Given the description of an element on the screen output the (x, y) to click on. 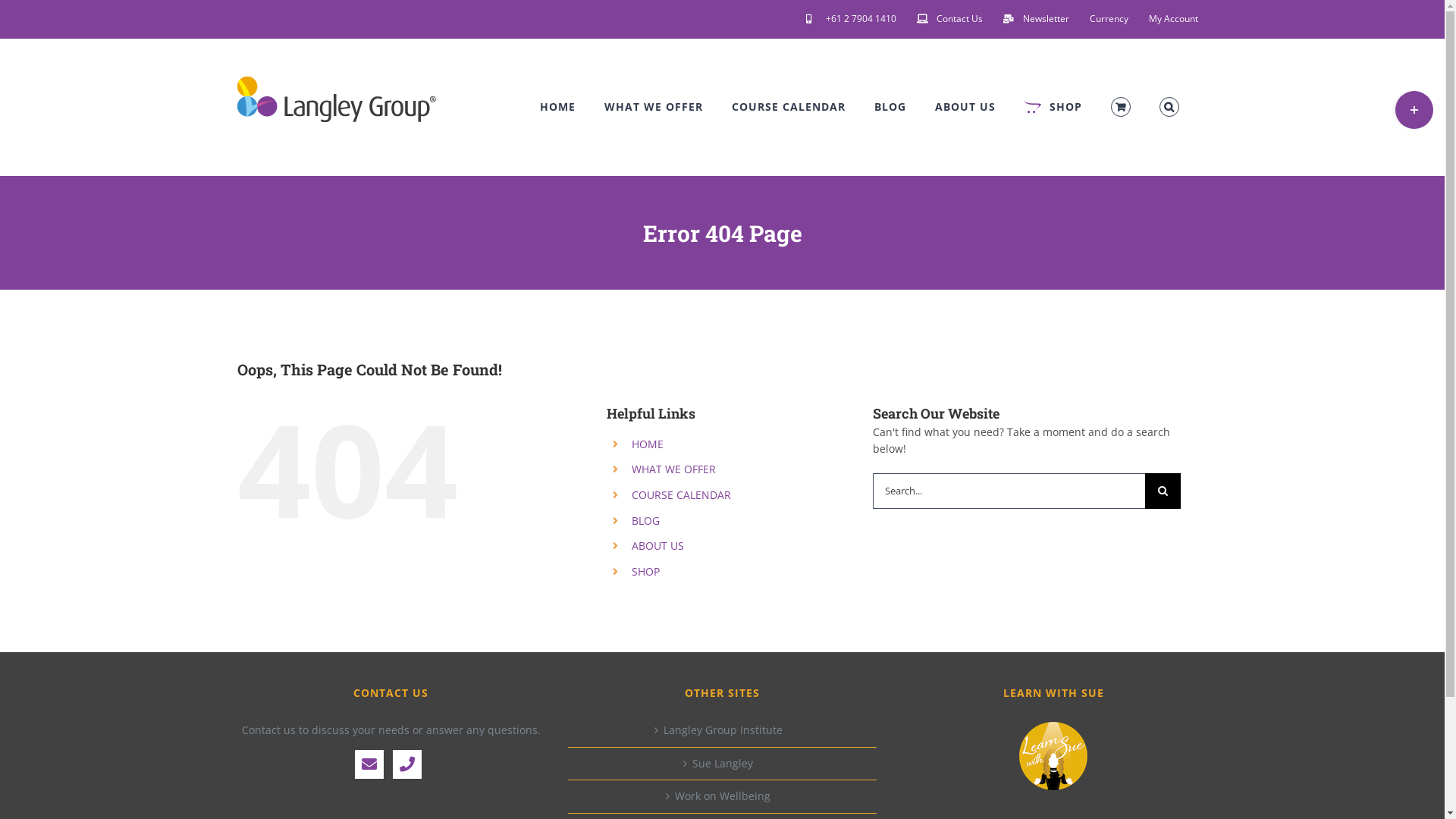
COURSE CALENDAR Element type: text (788, 106)
HOME Element type: text (647, 443)
WHAT WE OFFER Element type: text (653, 106)
ABOUT US Element type: text (657, 545)
+61 2 7904 1410 Element type: text (851, 18)
Langley Group Institute Element type: text (723, 729)
BLOG Element type: text (890, 106)
SHOP Element type: text (1053, 106)
Sue Langley Element type: text (723, 763)
Newsletter Element type: text (1036, 18)
ABOUT US Element type: text (965, 106)
HOME Element type: text (557, 106)
SHOP Element type: text (645, 571)
BLOG Element type: text (645, 520)
Search Element type: hover (1169, 106)
Toggle Sliding Bar Area Element type: text (1414, 109)
My Account Element type: text (1173, 18)
WHAT WE OFFER Element type: text (673, 468)
Currency Element type: text (1108, 18)
Contact Us Element type: text (949, 18)
Log In Element type: text (1226, 176)
Work on Wellbeing Element type: text (723, 795)
COURSE CALENDAR Element type: text (681, 494)
